Given the description of an element on the screen output the (x, y) to click on. 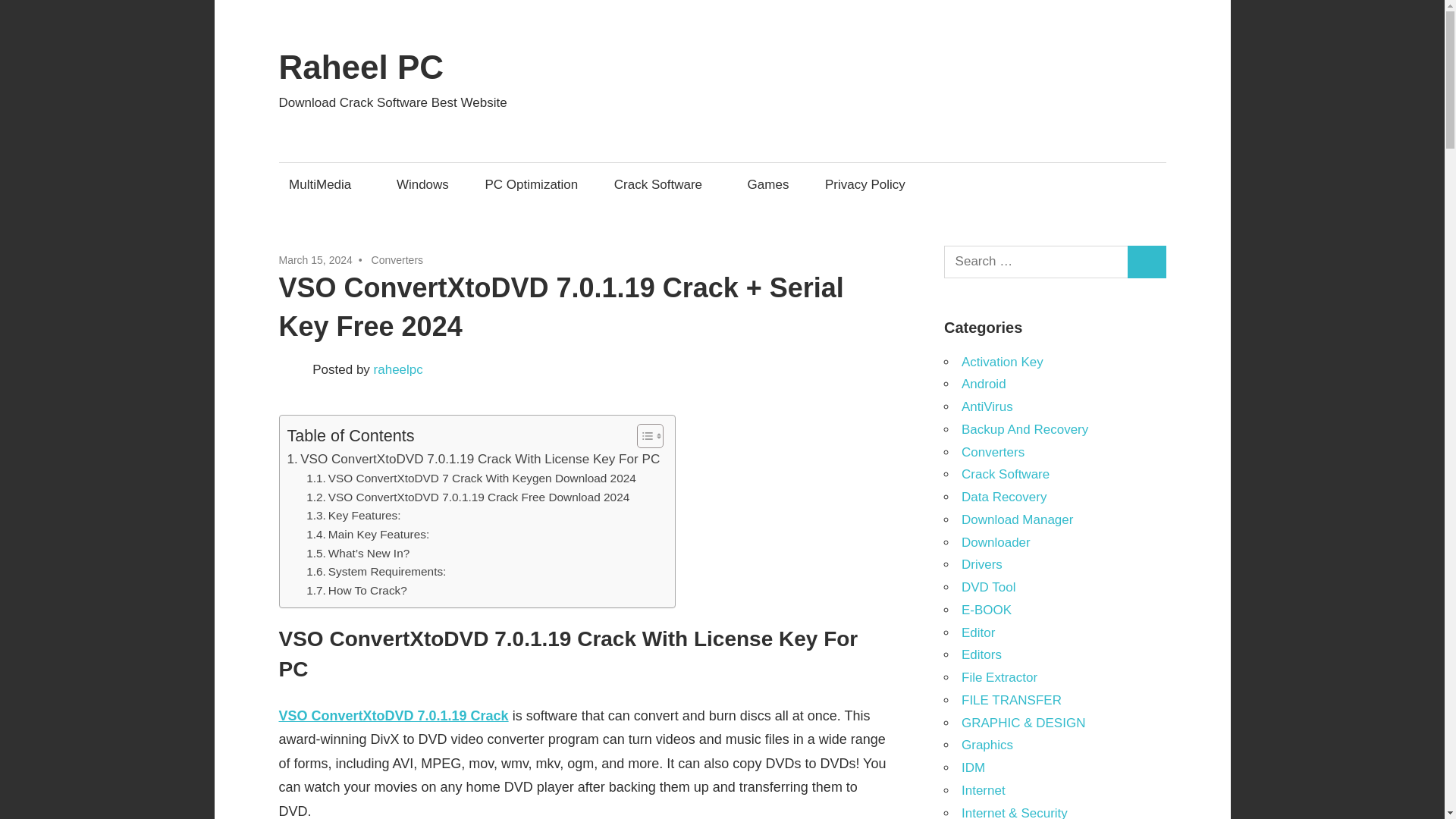
March 15, 2024 (315, 259)
Search for: (1035, 261)
View all posts by raheelpc (398, 369)
How To Crack? (356, 590)
Games (767, 184)
MultiMedia (325, 184)
PC Optimization (531, 184)
VSO ConvertXtoDVD 7.0.1.19 Crack With License Key For PC (472, 458)
Crack Software (662, 184)
Privacy Policy (864, 184)
